Given the description of an element on the screen output the (x, y) to click on. 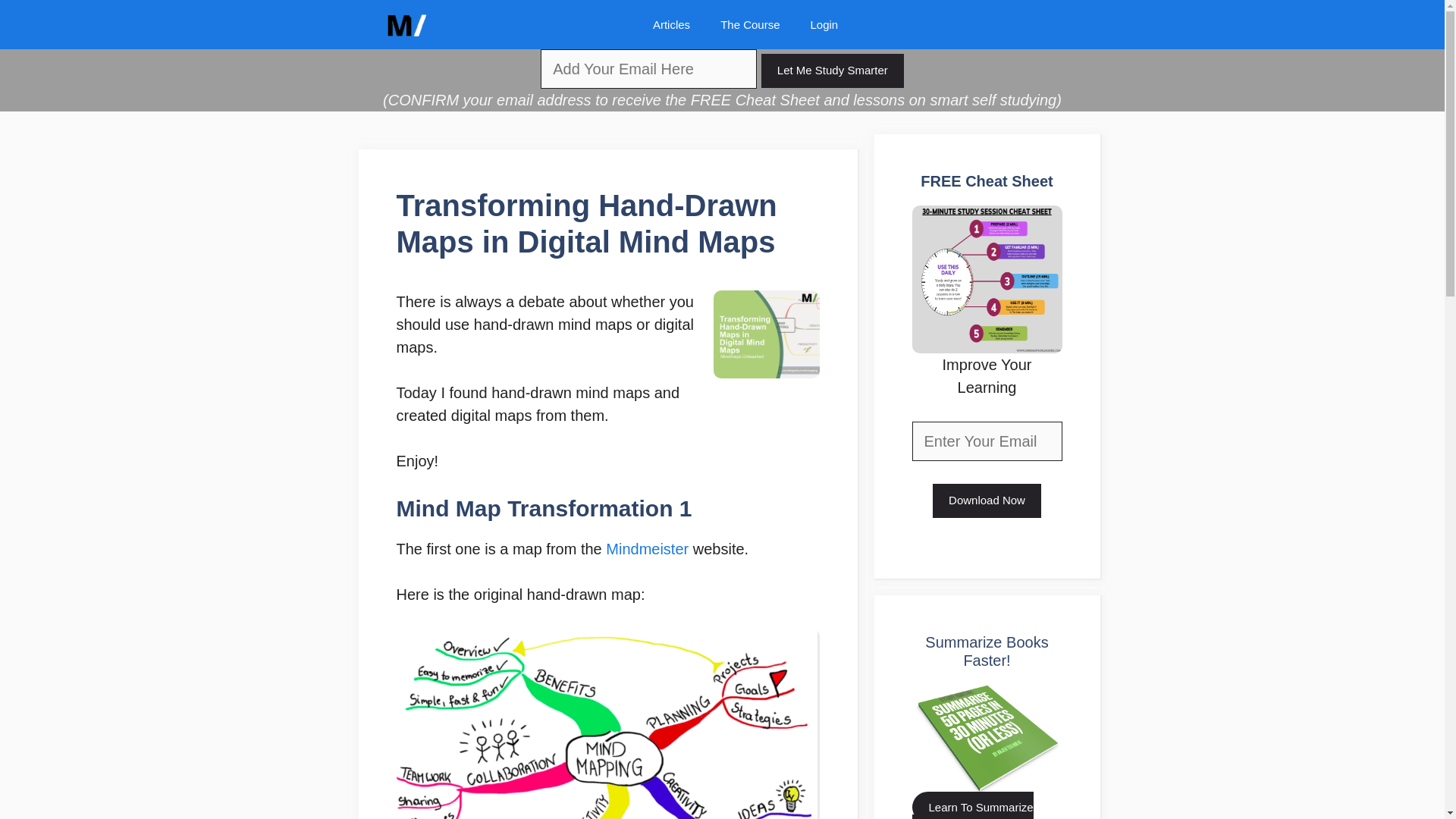
Let Me Study Smarter (832, 70)
Login (823, 24)
The Course (749, 24)
Download Now (987, 500)
Articles (670, 24)
MindMaps Unleashed (405, 24)
Learn To Summarize Smarter (971, 805)
Mindmeister (646, 548)
